Given the description of an element on the screen output the (x, y) to click on. 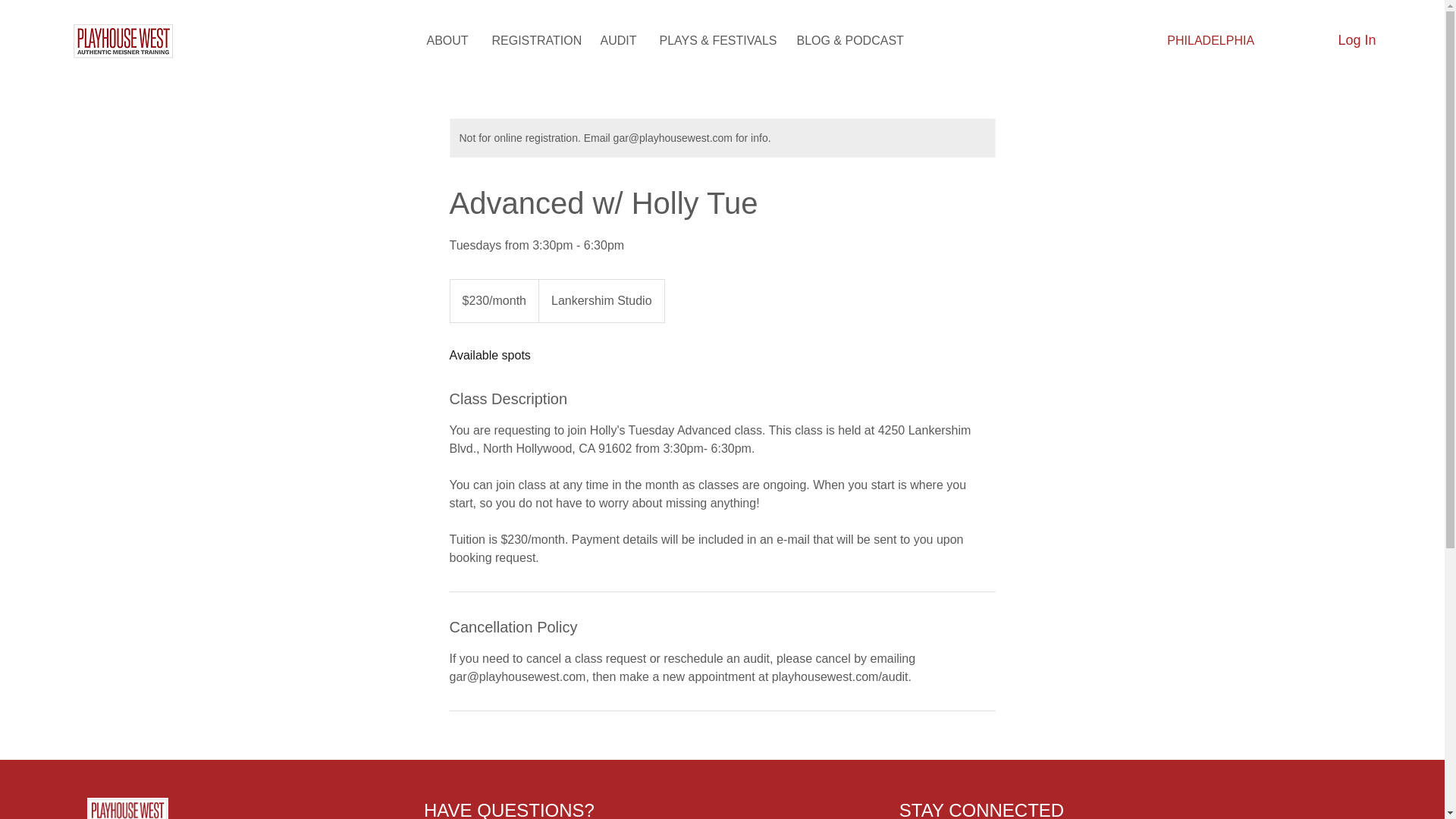
PHILADELPHIA (1211, 41)
Log In (1341, 40)
AUDIT (617, 40)
